Given the description of an element on the screen output the (x, y) to click on. 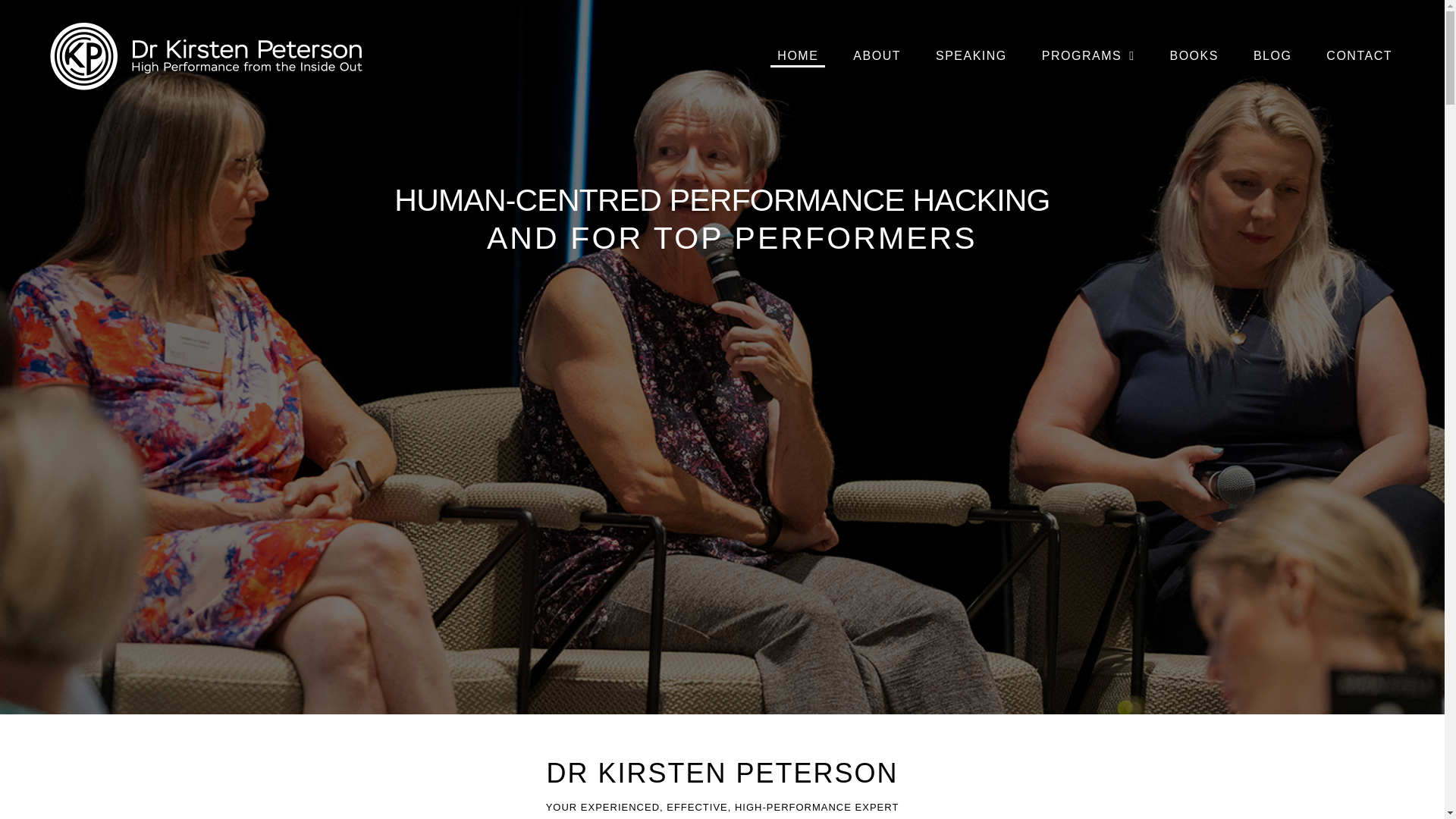
BLOG (1272, 56)
CONTACT (1359, 56)
HOME (797, 56)
BOOKS (1192, 56)
PROGRAMS (1088, 56)
SPEAKING (970, 56)
ABOUT (876, 56)
